Given the description of an element on the screen output the (x, y) to click on. 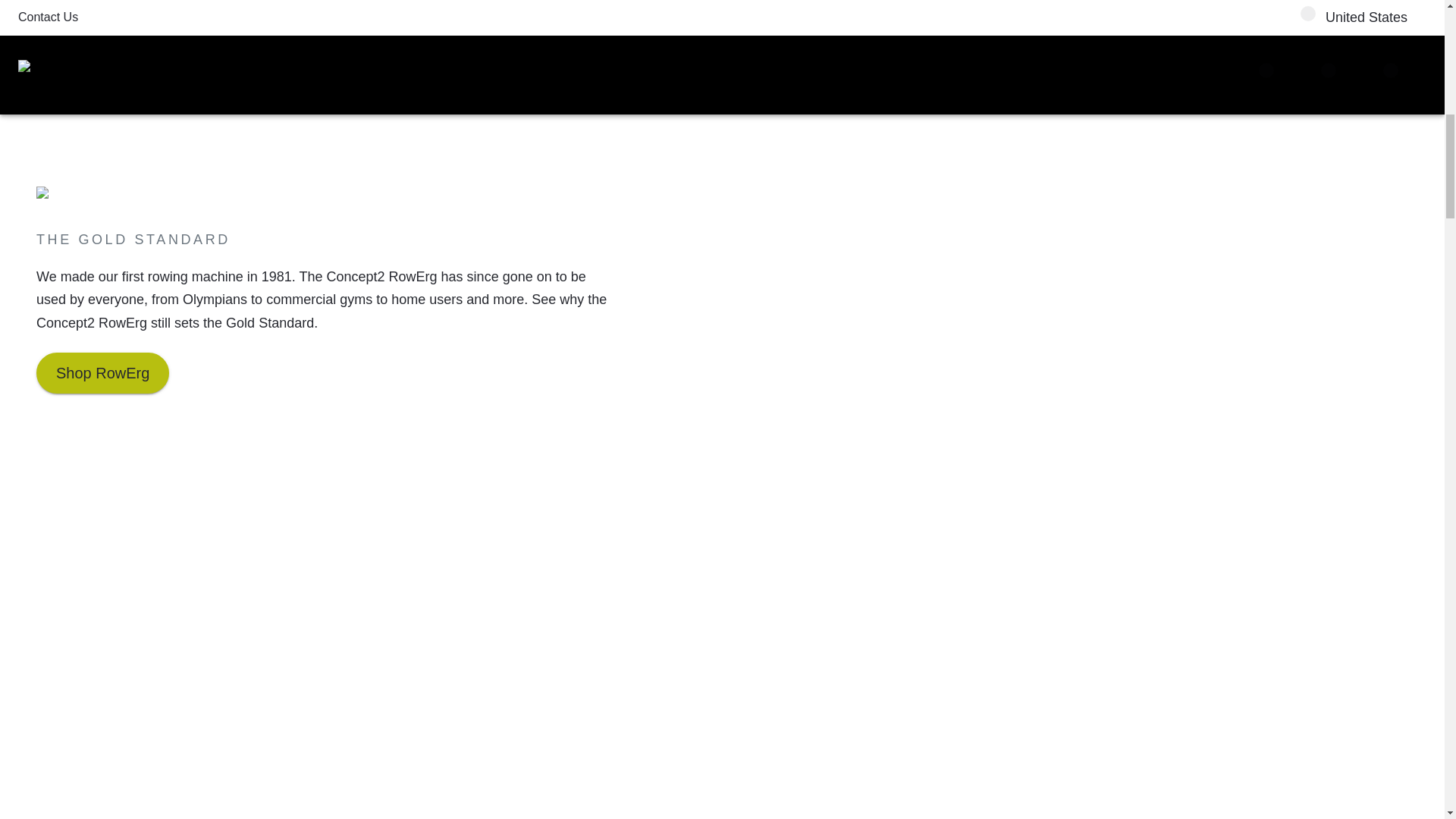
Shop RowErg (102, 372)
